Given the description of an element on the screen output the (x, y) to click on. 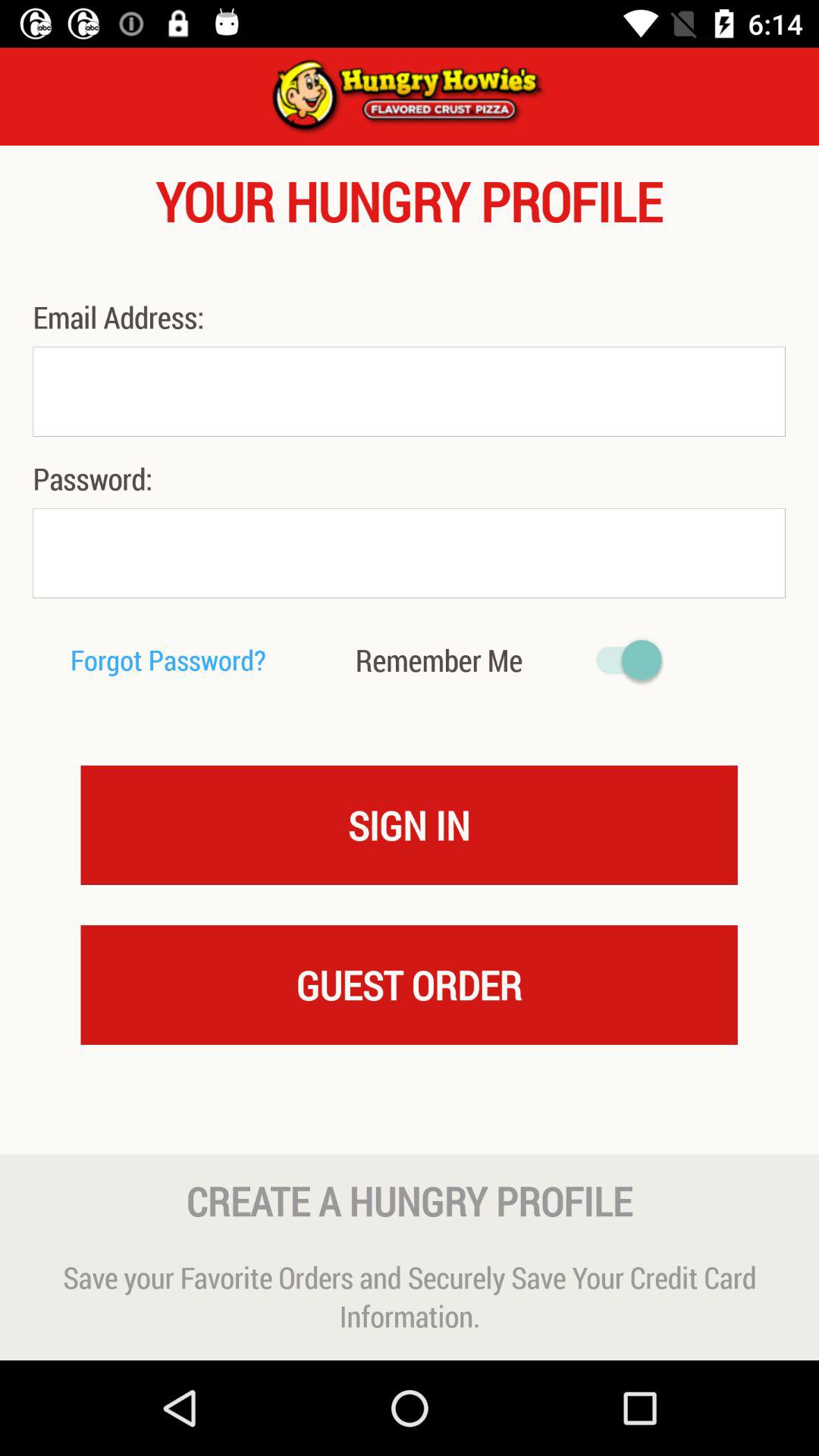
type password (408, 553)
